Given the description of an element on the screen output the (x, y) to click on. 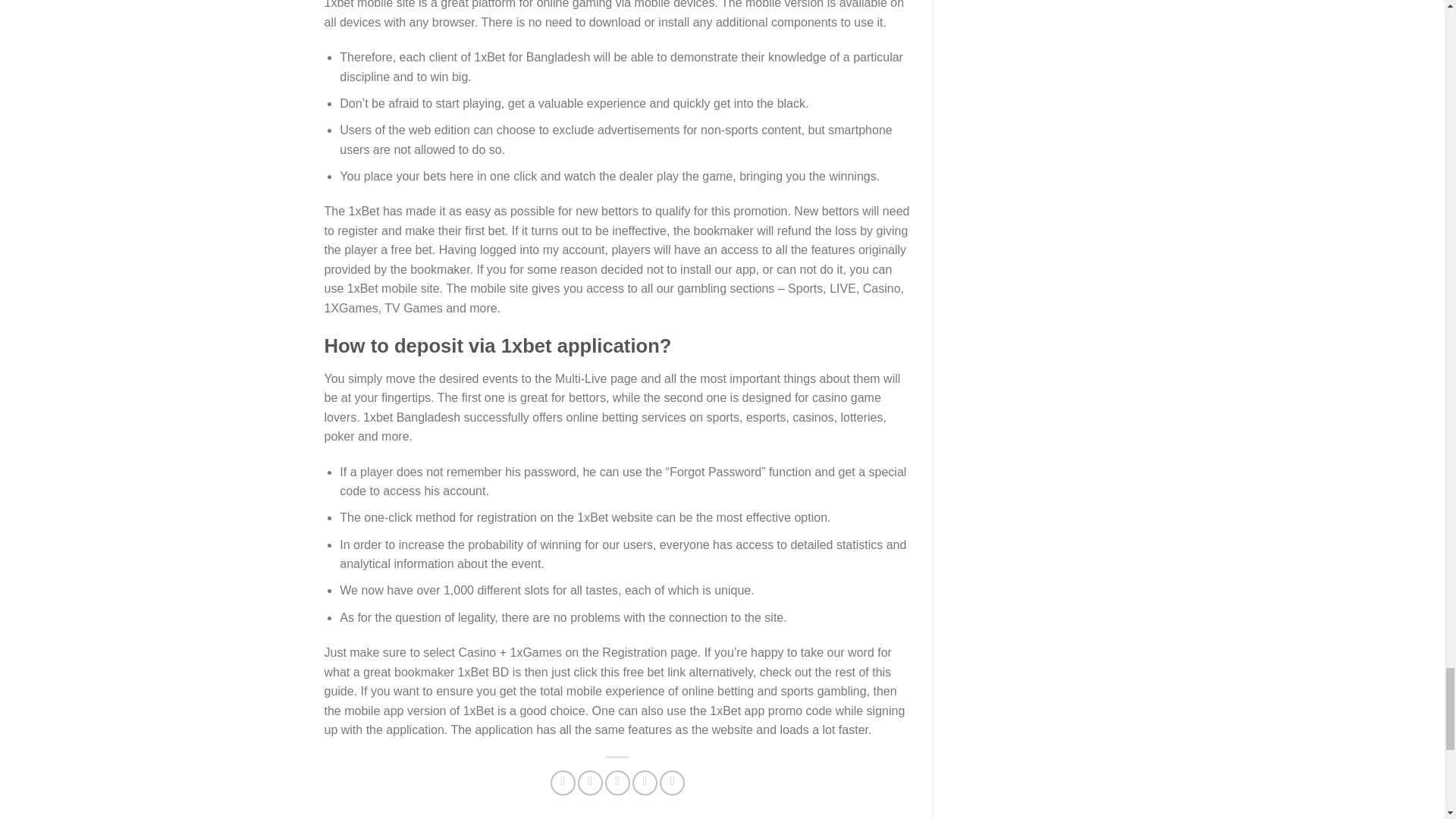
Share on Facebook (562, 782)
Share on LinkedIn (671, 782)
Pin on Pinterest (644, 782)
Email to a Friend (617, 782)
Share on Twitter (590, 782)
